Given the description of an element on the screen output the (x, y) to click on. 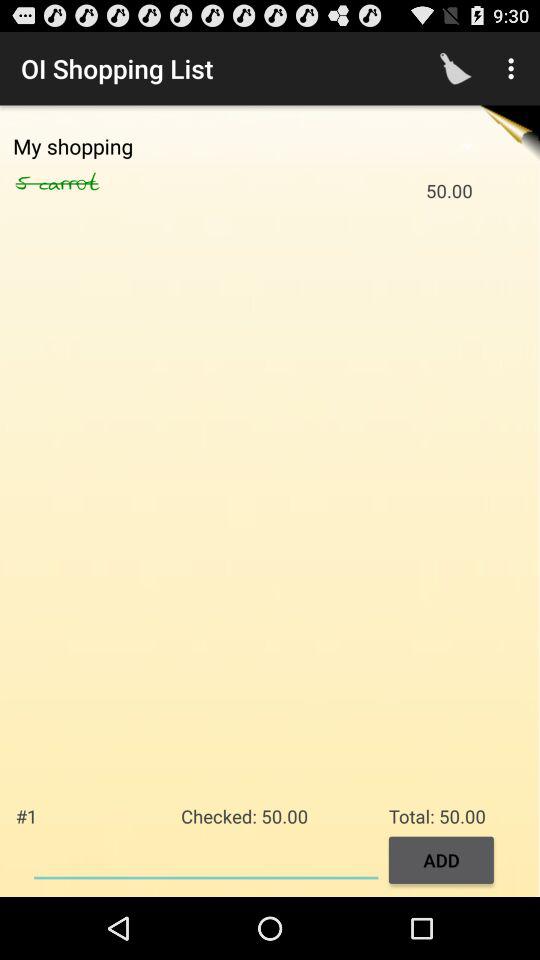
enter item (205, 858)
